Given the description of an element on the screen output the (x, y) to click on. 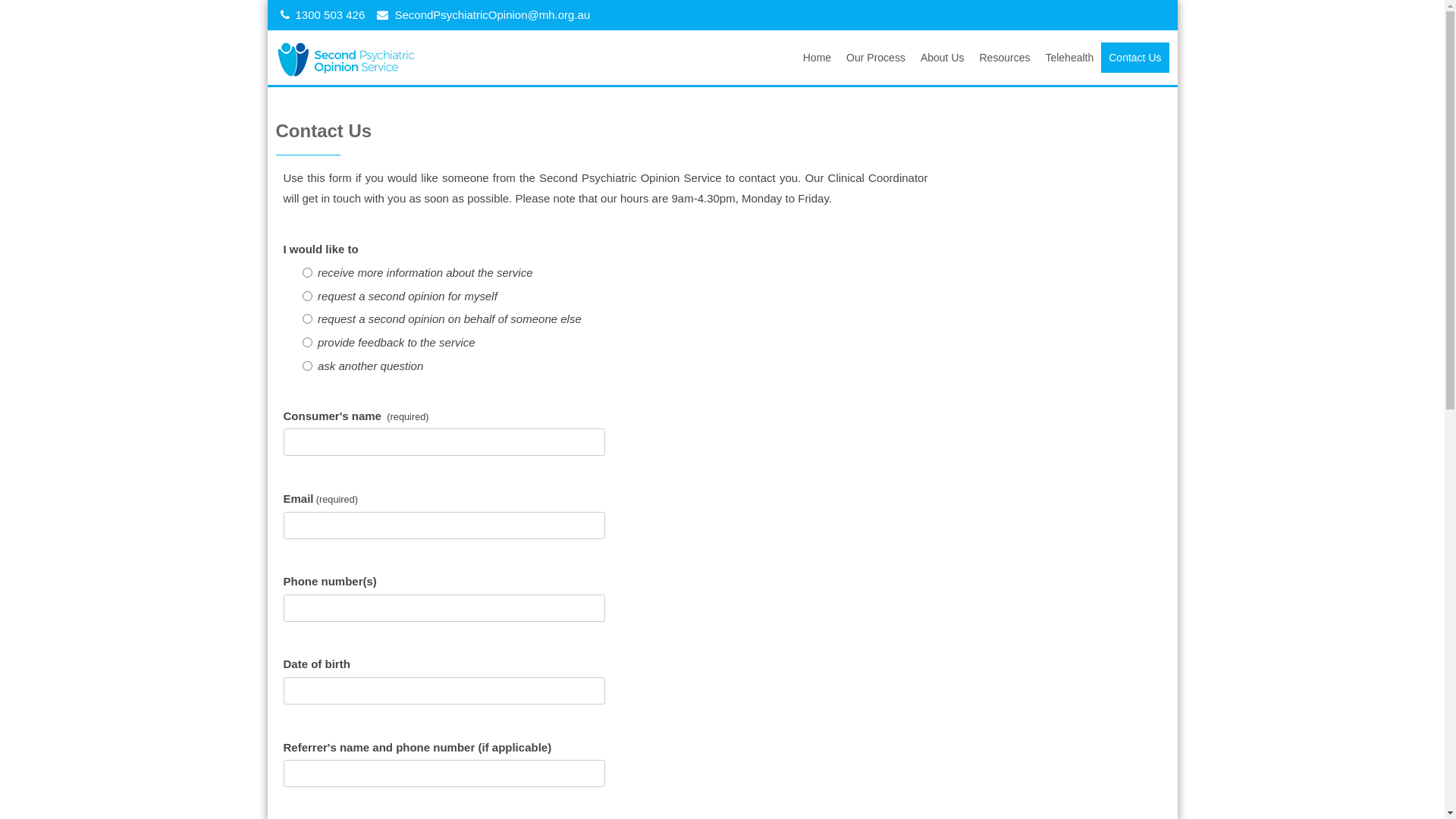
Our Process Element type: text (875, 57)
1300 503 426 Element type: text (330, 14)
Telehealth Element type: text (1069, 57)
Contact Us Element type: text (1134, 57)
About Us Element type: text (942, 57)
Resources Element type: text (1005, 57)
SecondPsychiatricOpinion@mh.org.au Element type: text (491, 14)
Home Element type: text (816, 57)
